Given the description of an element on the screen output the (x, y) to click on. 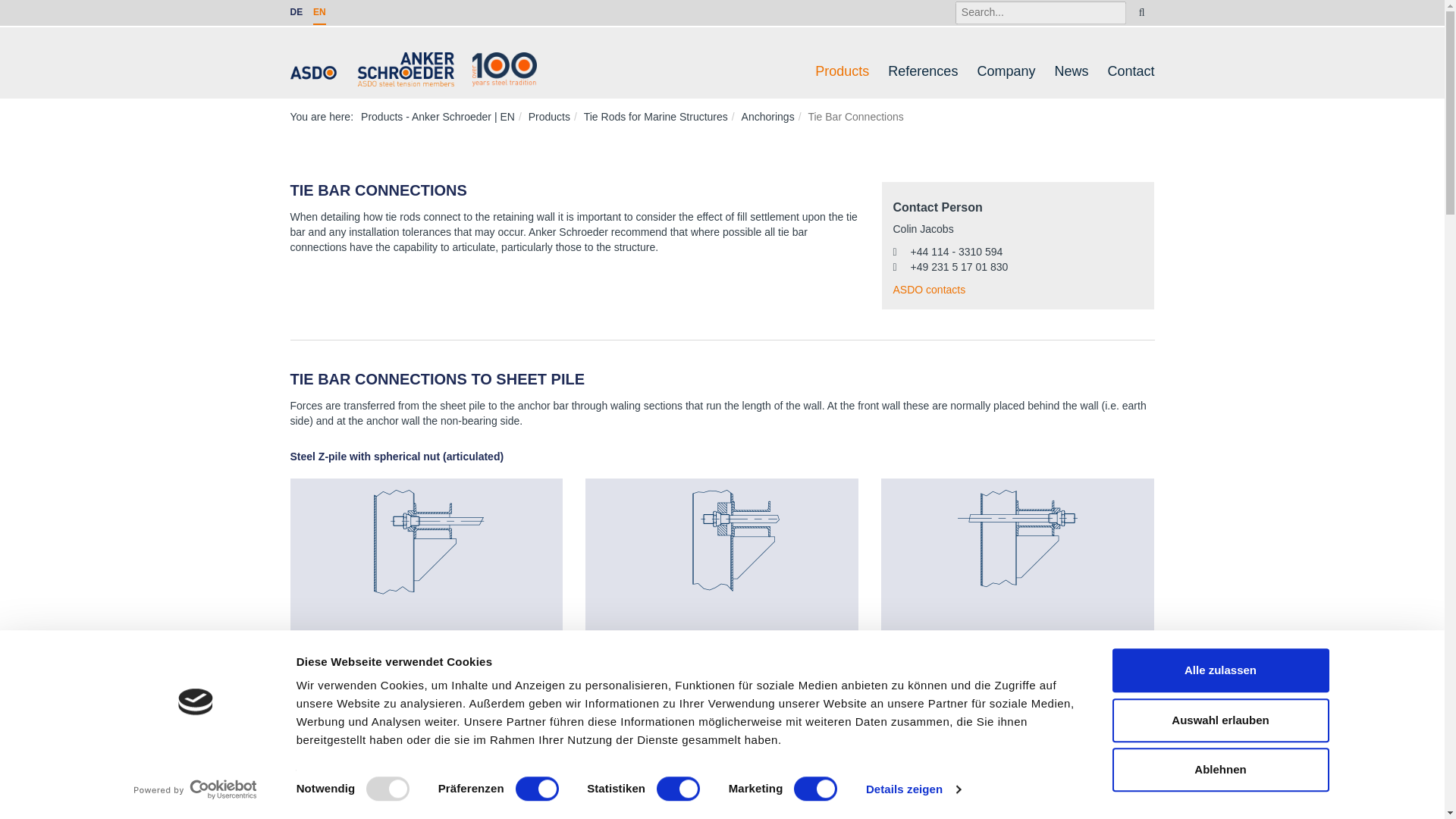
Products (842, 71)
Auswahl erlauben (1219, 720)
Alle zulassen (1219, 670)
Details zeigen (913, 789)
Ablehnen (1219, 769)
